Given the description of an element on the screen output the (x, y) to click on. 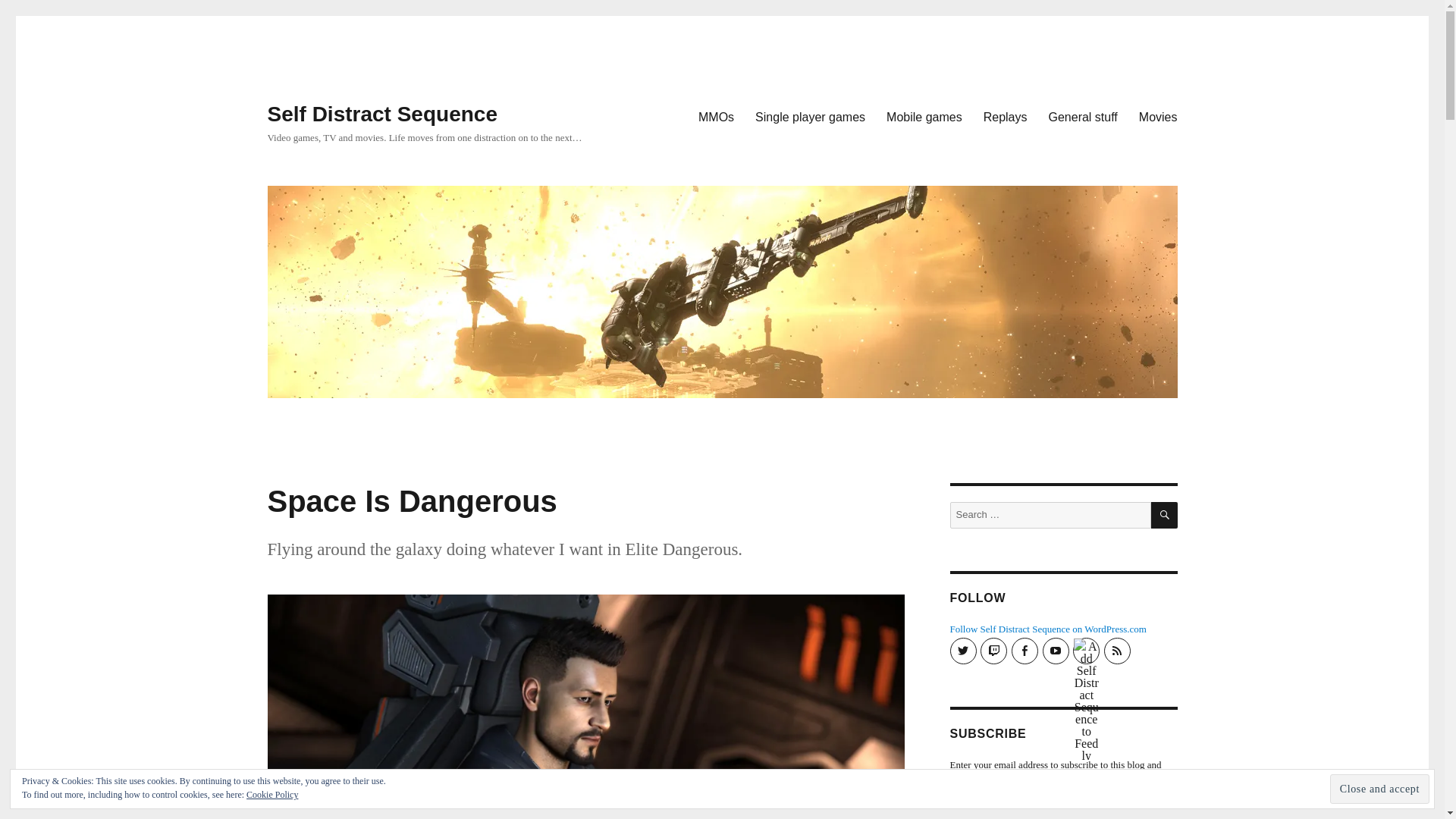
Replays (1005, 116)
View Galactrix's YouTube channel (1055, 651)
View Galactrix's profile on Twitter (962, 651)
Close and accept (1379, 788)
View Galactrix's Facebook page (1024, 651)
General stuff (1081, 116)
Self Distract Sequence (381, 114)
Follow Self Distract Sequence on WordPress.com (1047, 628)
Subscribe to Self Distract Sequence by RSS (1117, 651)
Cookie Policy (272, 794)
